Given the description of an element on the screen output the (x, y) to click on. 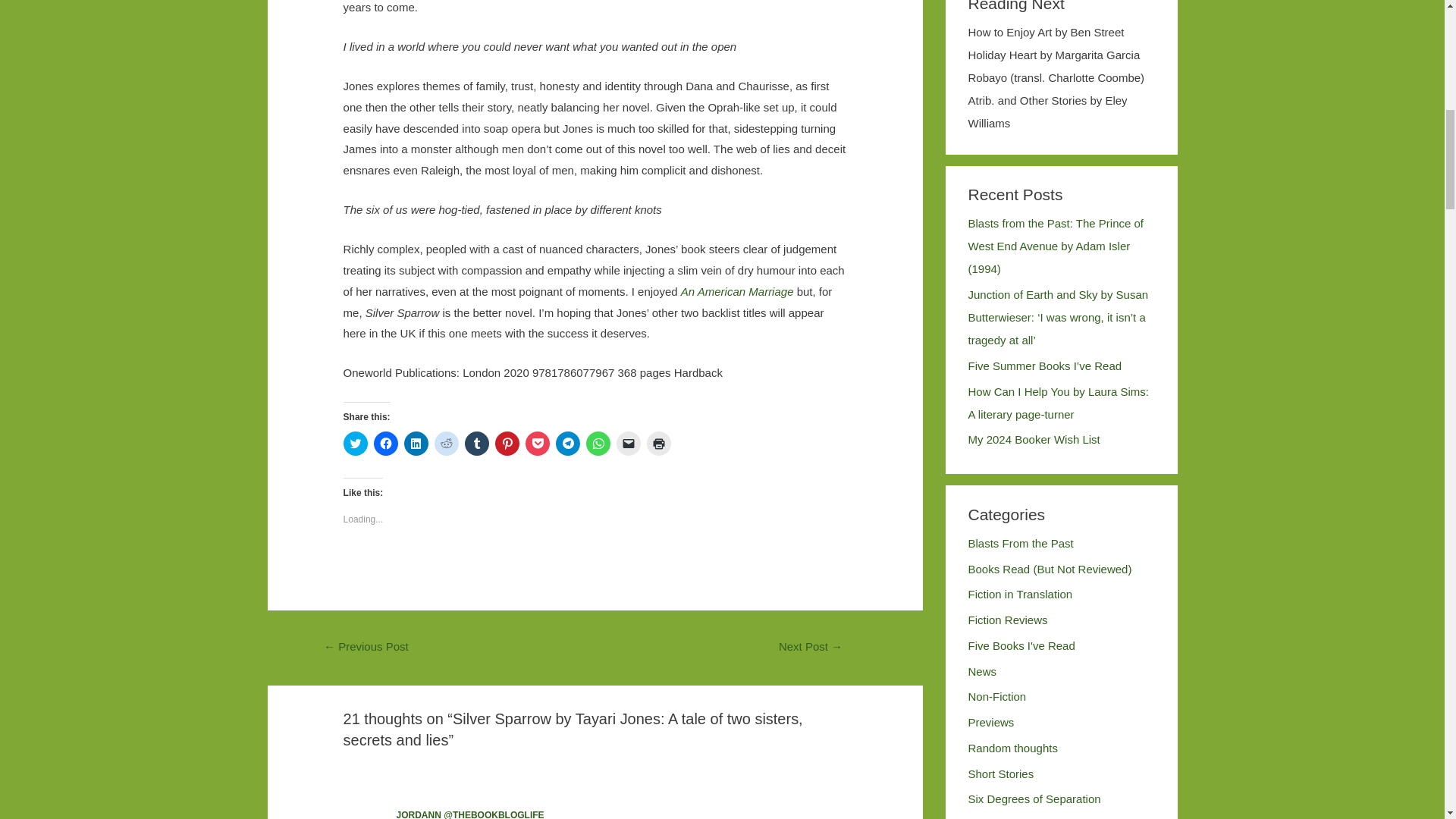
An American Marriage (735, 291)
Click to share on Pinterest (507, 443)
Click to share on LinkedIn (416, 443)
Click to share on Reddit (445, 443)
Click to share on Tumblr (476, 443)
Click to share on Facebook (385, 443)
Click to share on Twitter (355, 443)
Click to share on Pocket (537, 443)
